Given the description of an element on the screen output the (x, y) to click on. 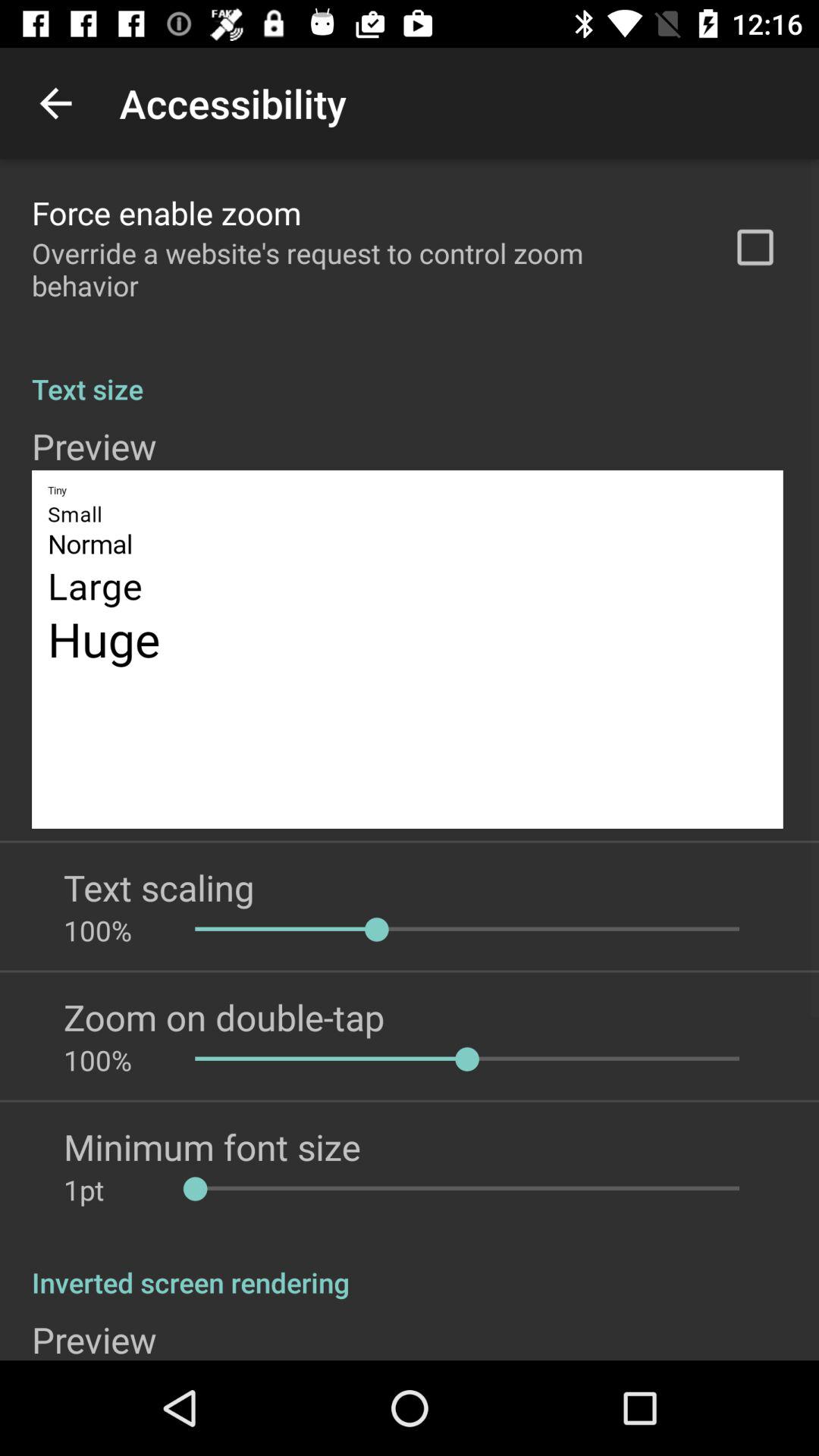
select the item next to the accessibility item (55, 103)
